Given the description of an element on the screen output the (x, y) to click on. 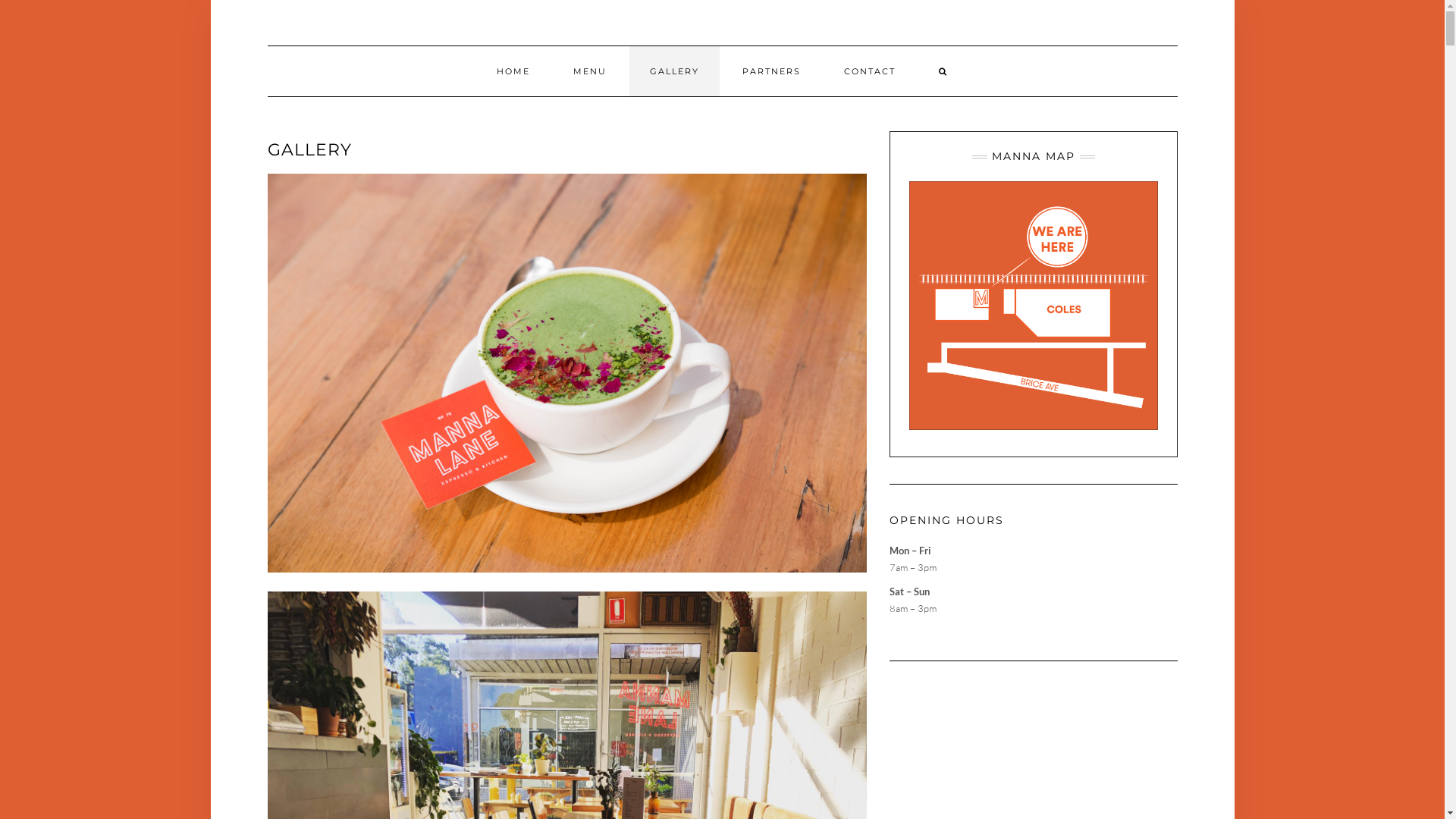
CONTACT Element type: text (869, 71)
Manna Map Element type: hover (1032, 305)
PARTNERS Element type: text (771, 71)
GALLERY Element type: text (674, 71)
HOME Element type: text (513, 71)
MENU Element type: text (589, 71)
